Given the description of an element on the screen output the (x, y) to click on. 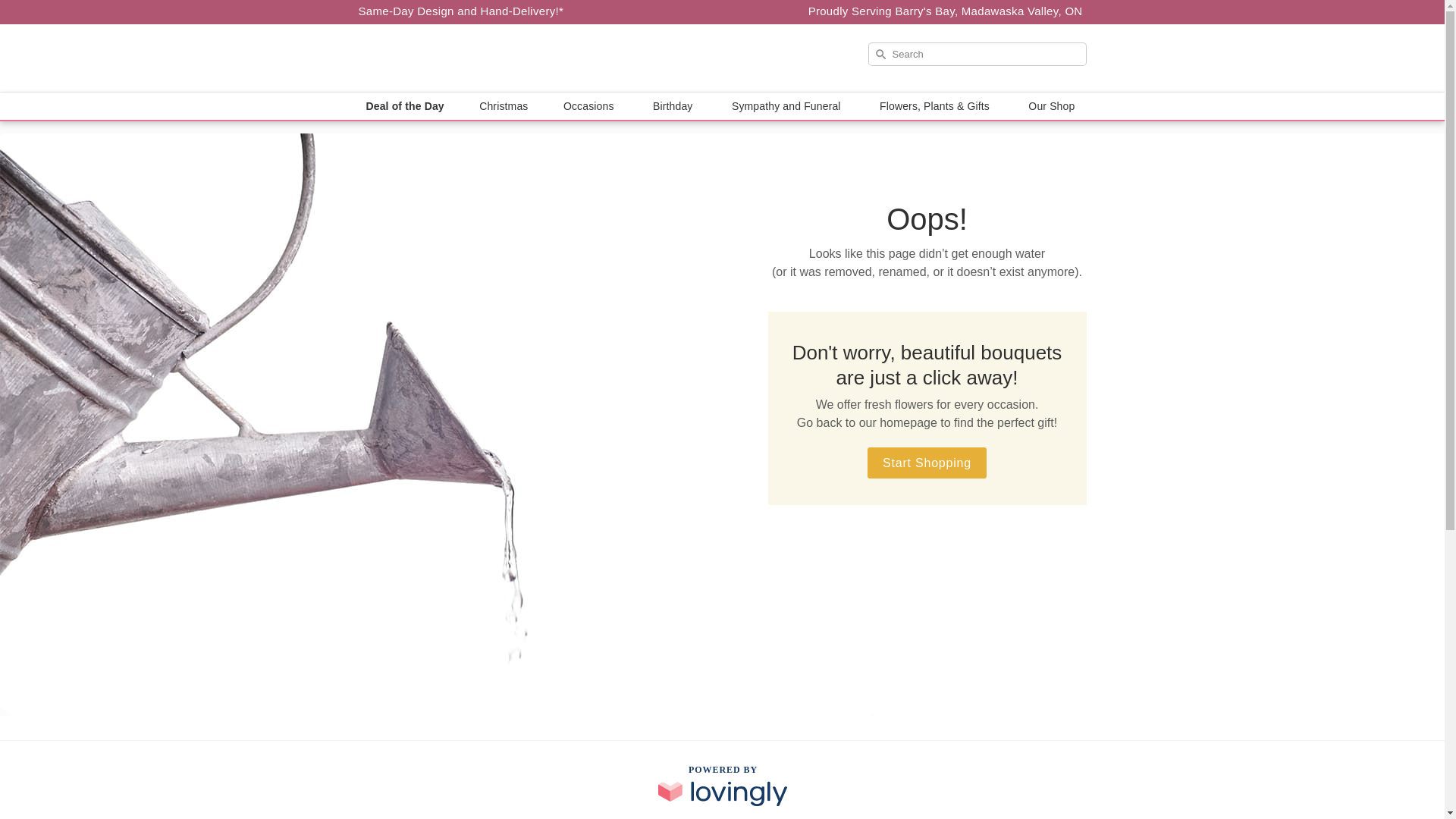
Birthday Element type: text (674, 105)
Christmas Element type: text (503, 105)
Our Shop Element type: text (1052, 105)
Deal of the Day Element type: text (404, 105)
Start Shopping Element type: text (926, 462)
Submit Search Form Element type: text (52, 7)
Flowers, Plants & Gifts Element type: text (936, 105)
Sympathy and Funeral Element type: text (788, 105)
Same-Day Design and Hand-Delivery!* Element type: text (460, 10)
Occasions Element type: text (590, 105)
